Given the description of an element on the screen output the (x, y) to click on. 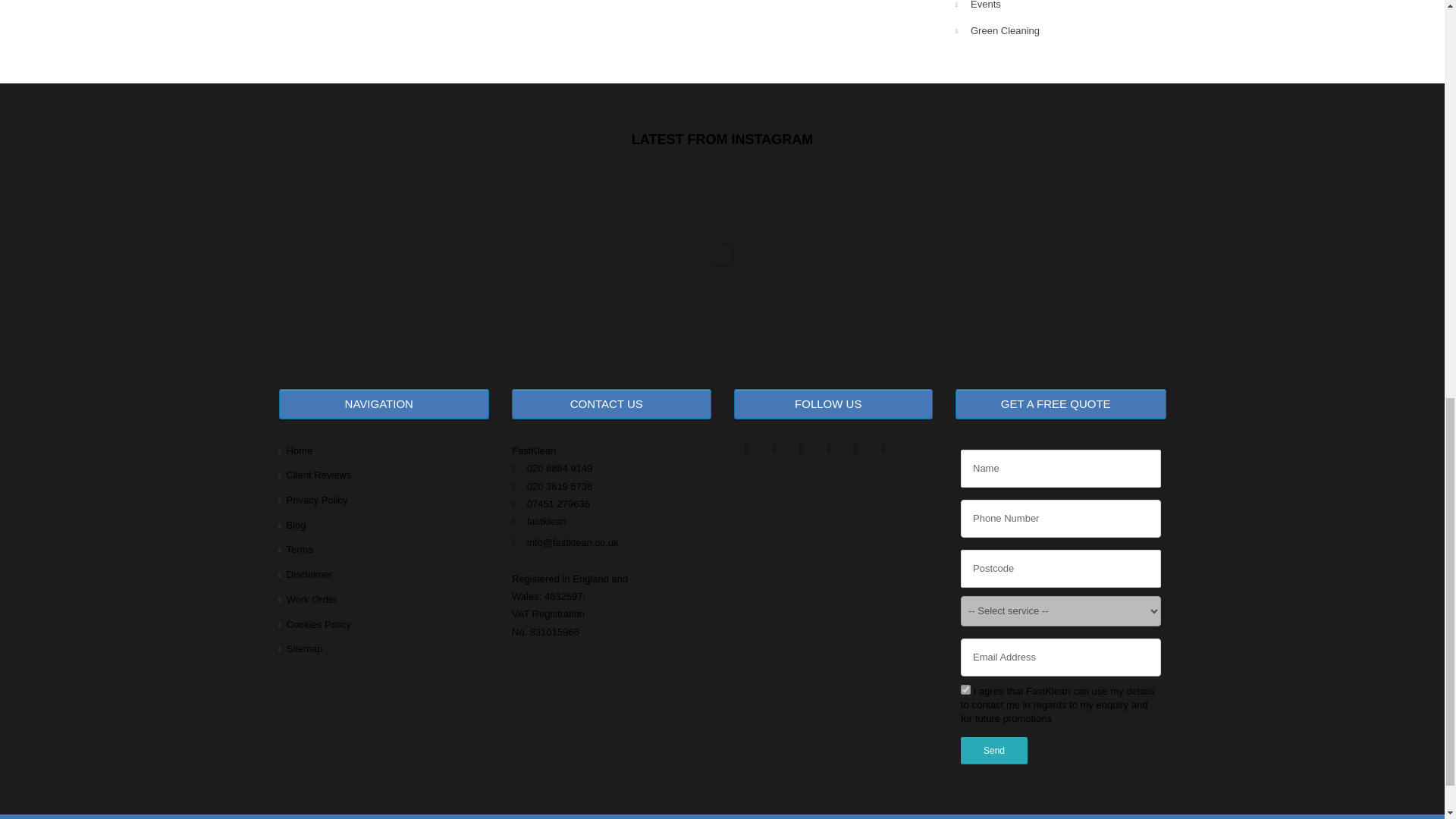
Youtube (856, 454)
1 (965, 689)
Send (993, 750)
Facebook (747, 454)
Instagram (801, 454)
Twitter (774, 454)
Rss (884, 454)
Pinterest (828, 454)
Accepted Payments (595, 669)
